Given the description of an element on the screen output the (x, y) to click on. 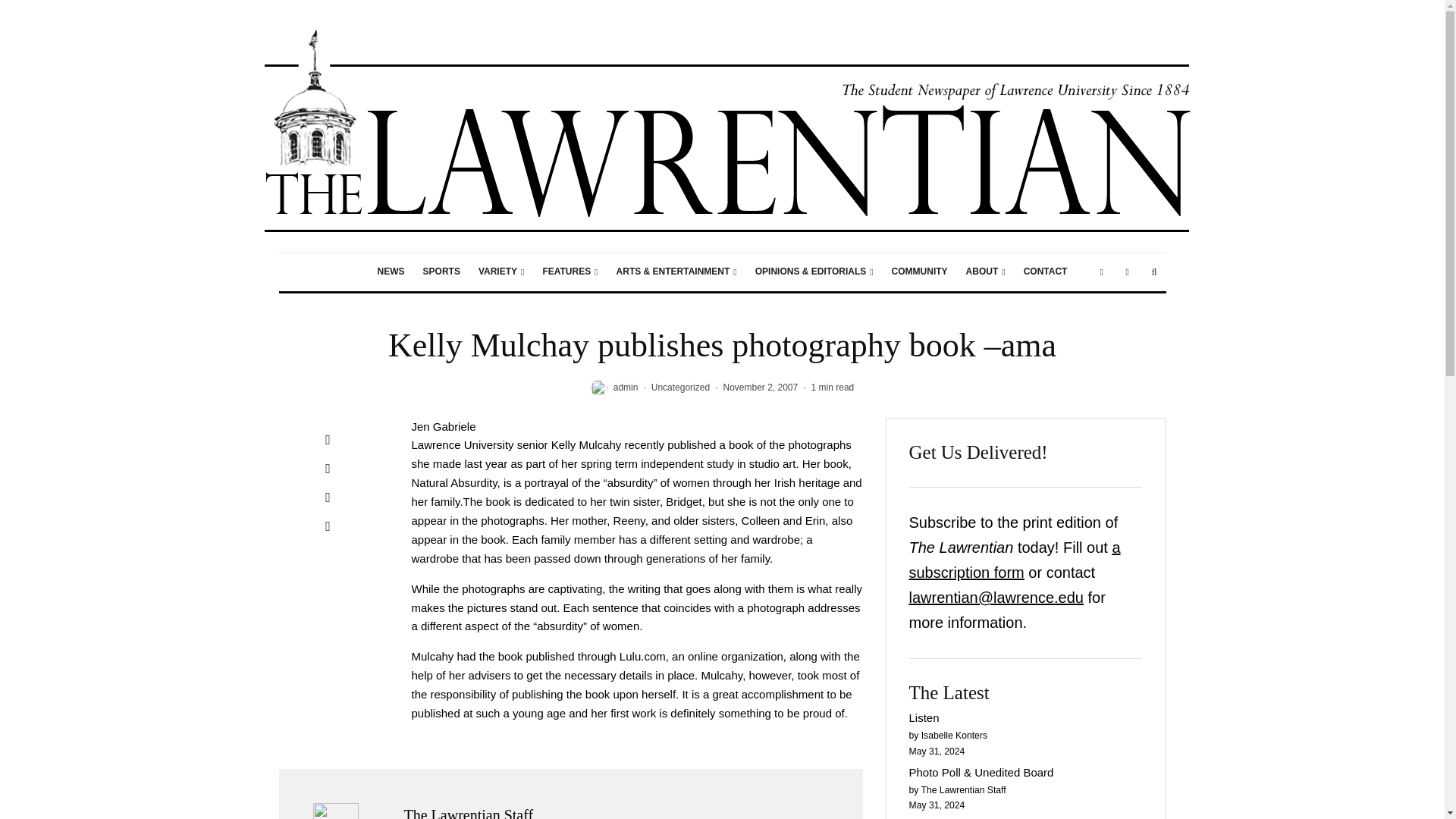
SPORTS (440, 272)
NEWS (390, 272)
VARIETY (501, 272)
Posts by admin (625, 387)
FEATURES (569, 272)
